Given the description of an element on the screen output the (x, y) to click on. 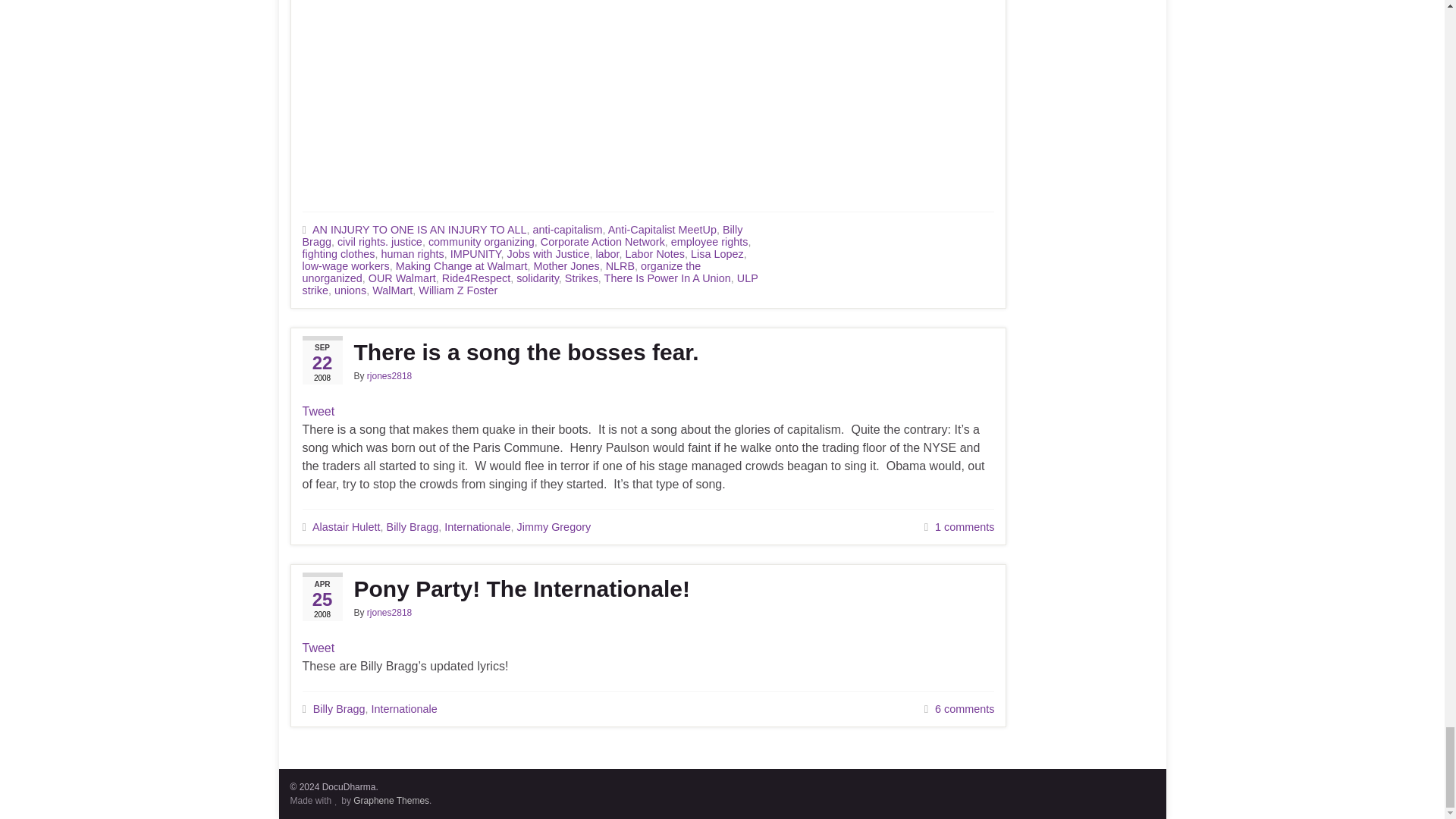
Permalink to Pony Party!  The Internationale! (647, 588)
Permalink to There is a song the bosses fear. (647, 352)
